Given the description of an element on the screen output the (x, y) to click on. 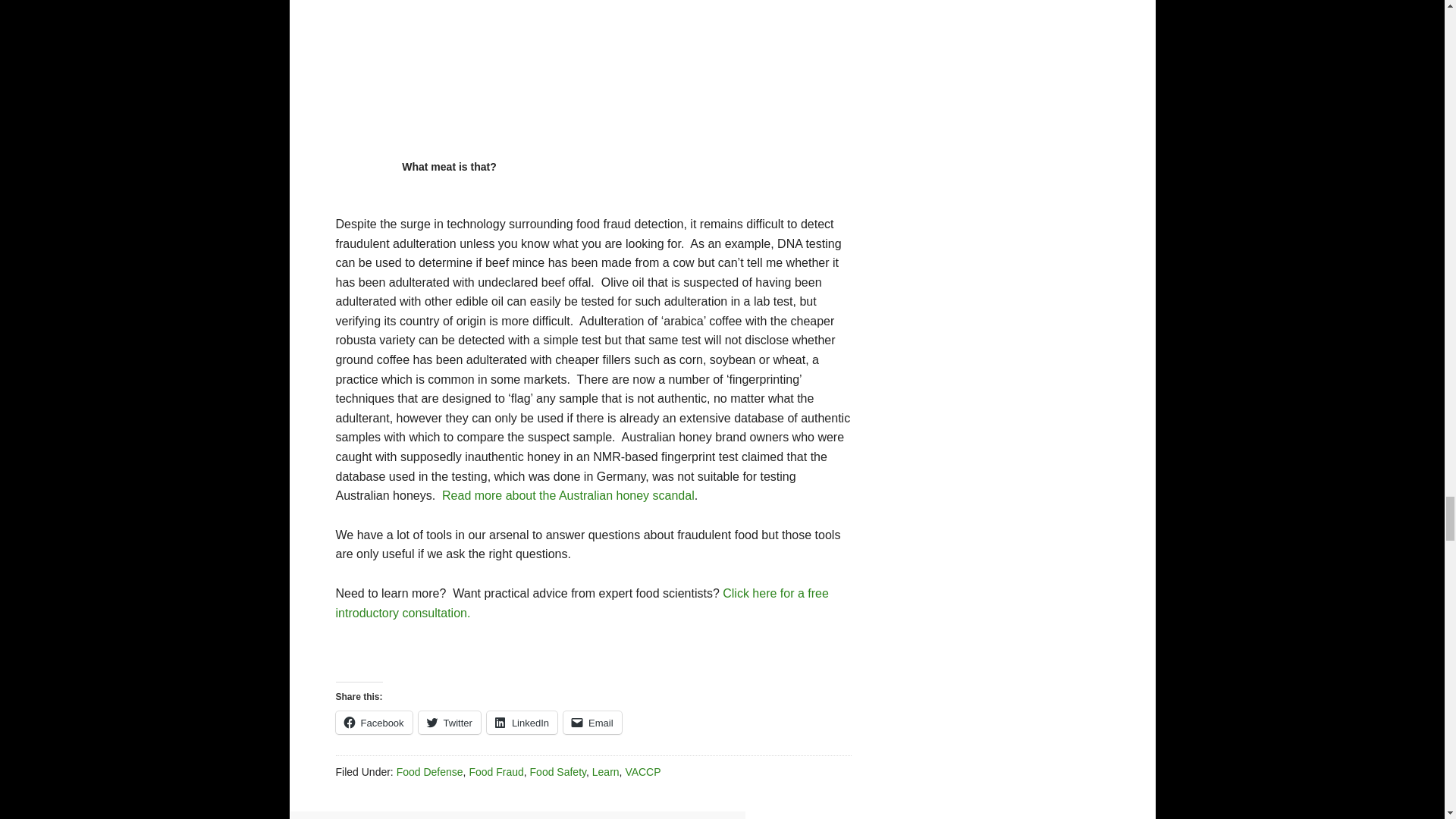
Click to share on Facebook (373, 722)
Click to share on LinkedIn (521, 722)
Click to share on Twitter (449, 722)
Click to email a link to a friend (592, 722)
